Given the description of an element on the screen output the (x, y) to click on. 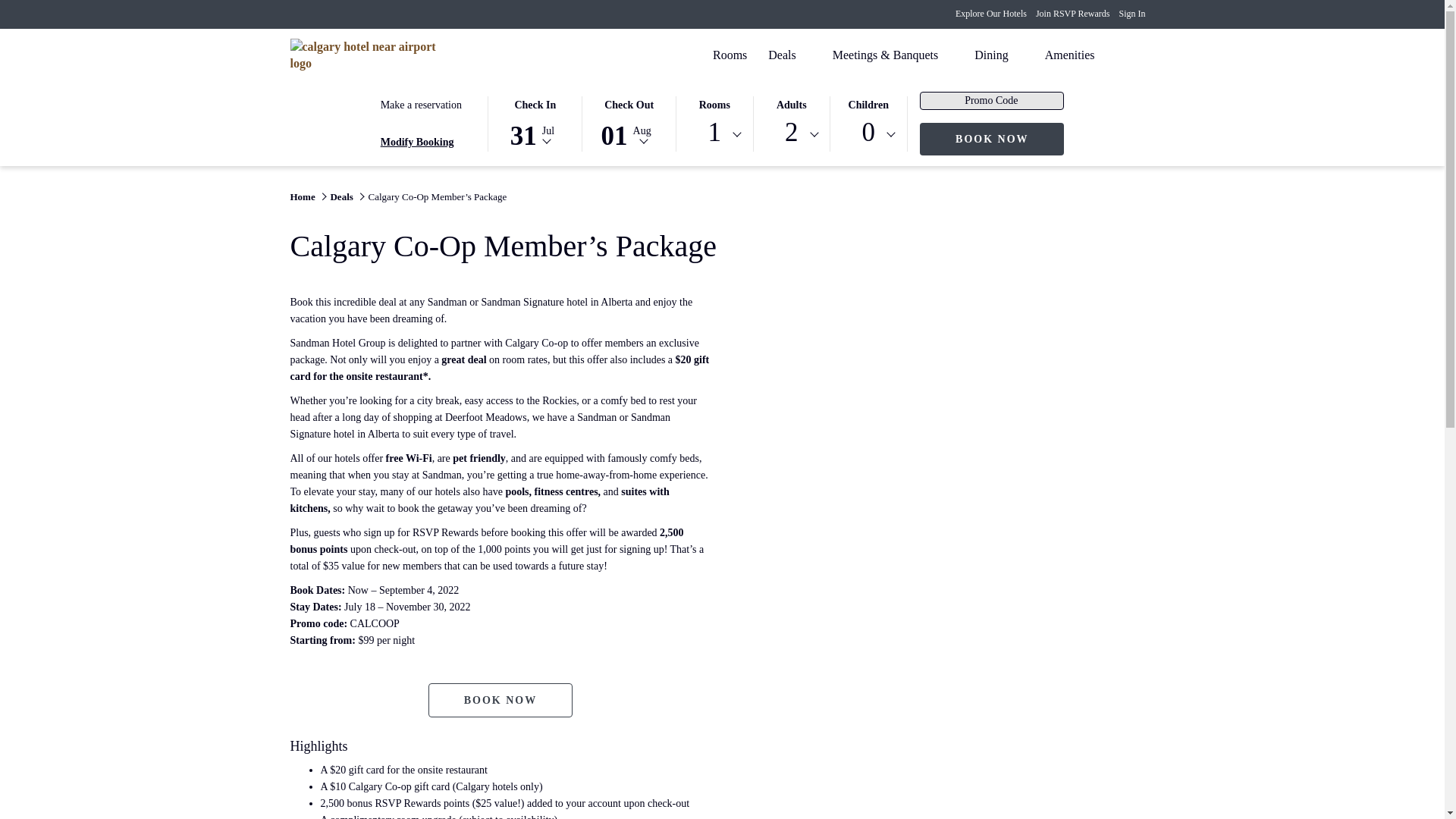
Join RSVP Rewards (1072, 13)
 2  (790, 130)
Dining (990, 54)
Amenities (1069, 54)
 0  (992, 138)
 1  (868, 130)
Modify Booking (713, 130)
Explore Our Hotels (417, 142)
Rooms (990, 13)
Menu (729, 54)
Sign In (1142, 55)
Back to the homepage (1131, 13)
Deals (368, 54)
